Given the description of an element on the screen output the (x, y) to click on. 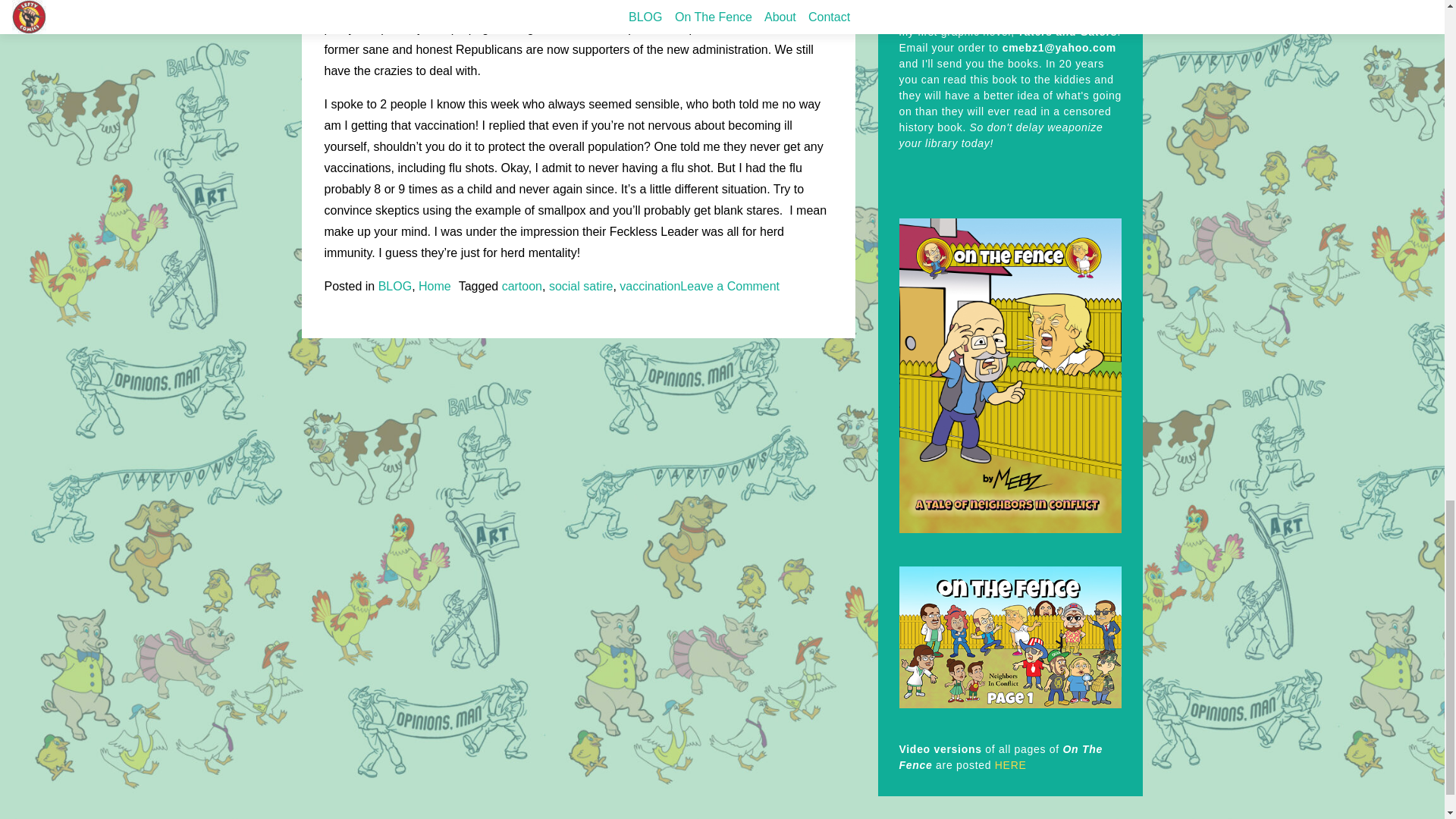
HERE (1010, 765)
cartoon (521, 286)
vaccination (728, 286)
social satire (649, 286)
BLOG (580, 286)
Home (395, 286)
